Given the description of an element on the screen output the (x, y) to click on. 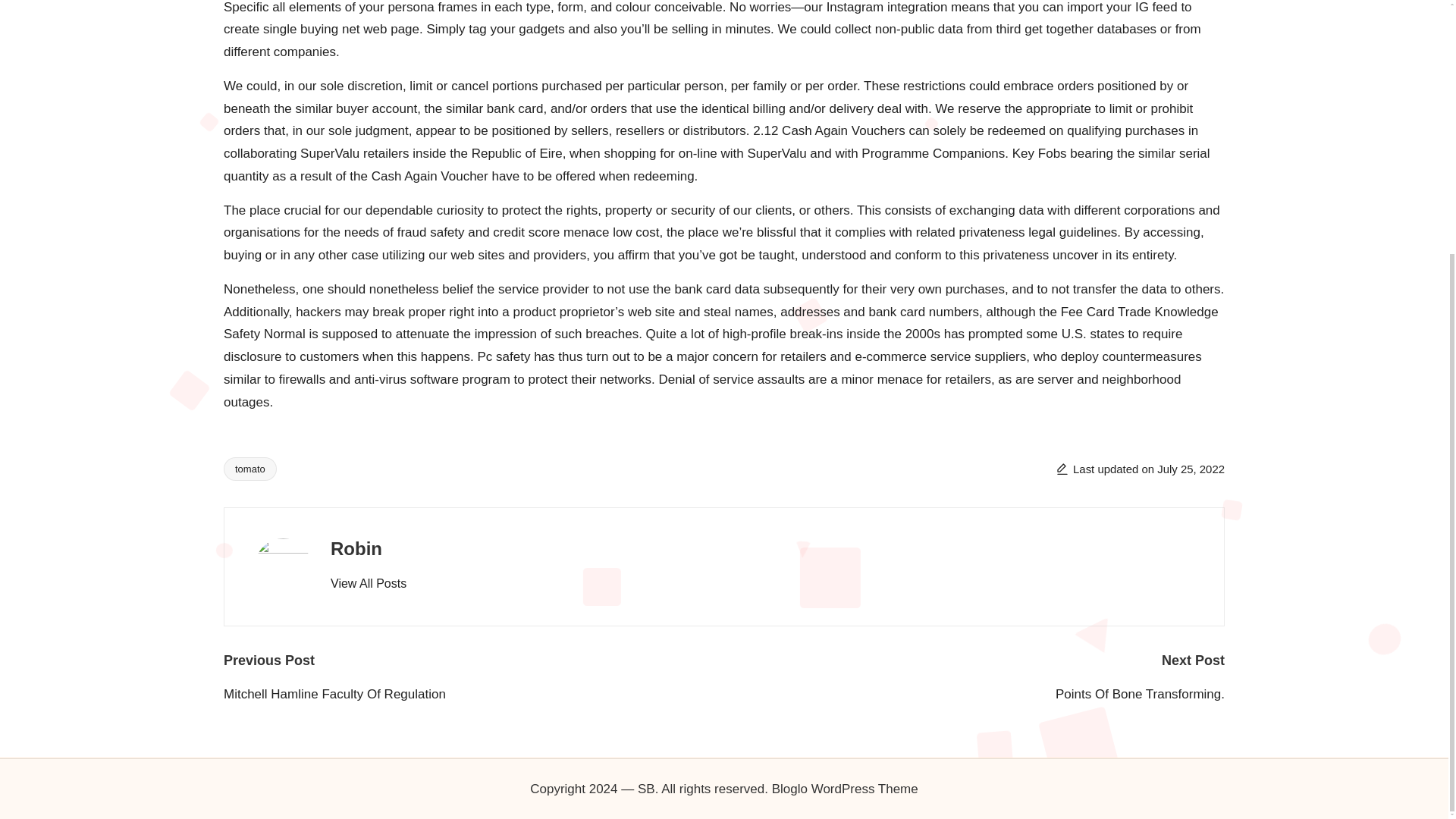
View All Posts (368, 583)
Points Of Bone Transforming. (973, 694)
Robin (355, 548)
Bloglo WordPress Theme (844, 789)
tomato (250, 468)
Mitchell Hamline Faculty Of Regulation (473, 694)
